Given the description of an element on the screen output the (x, y) to click on. 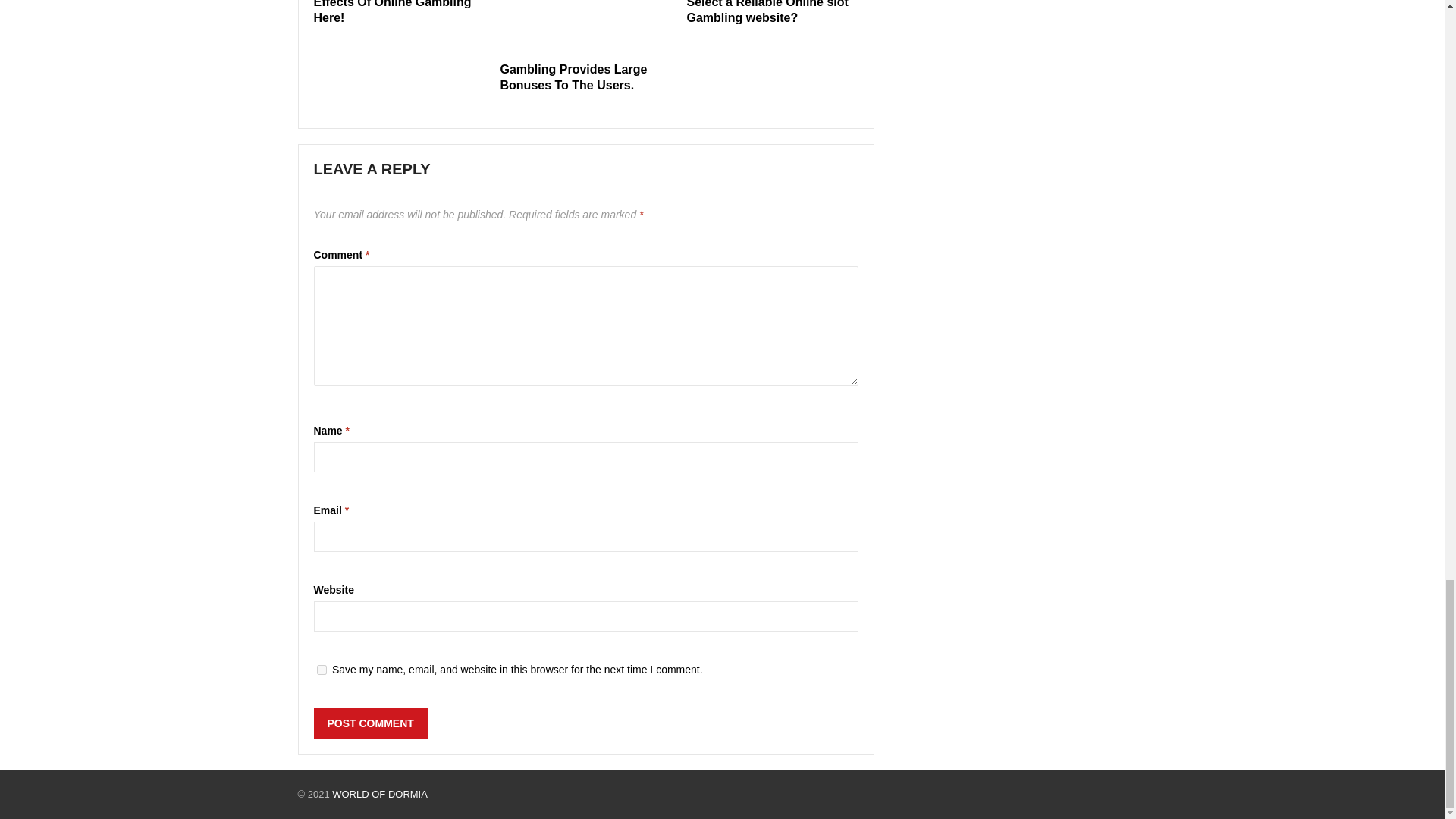
Post Comment (371, 723)
yes (321, 669)
